Given the description of an element on the screen output the (x, y) to click on. 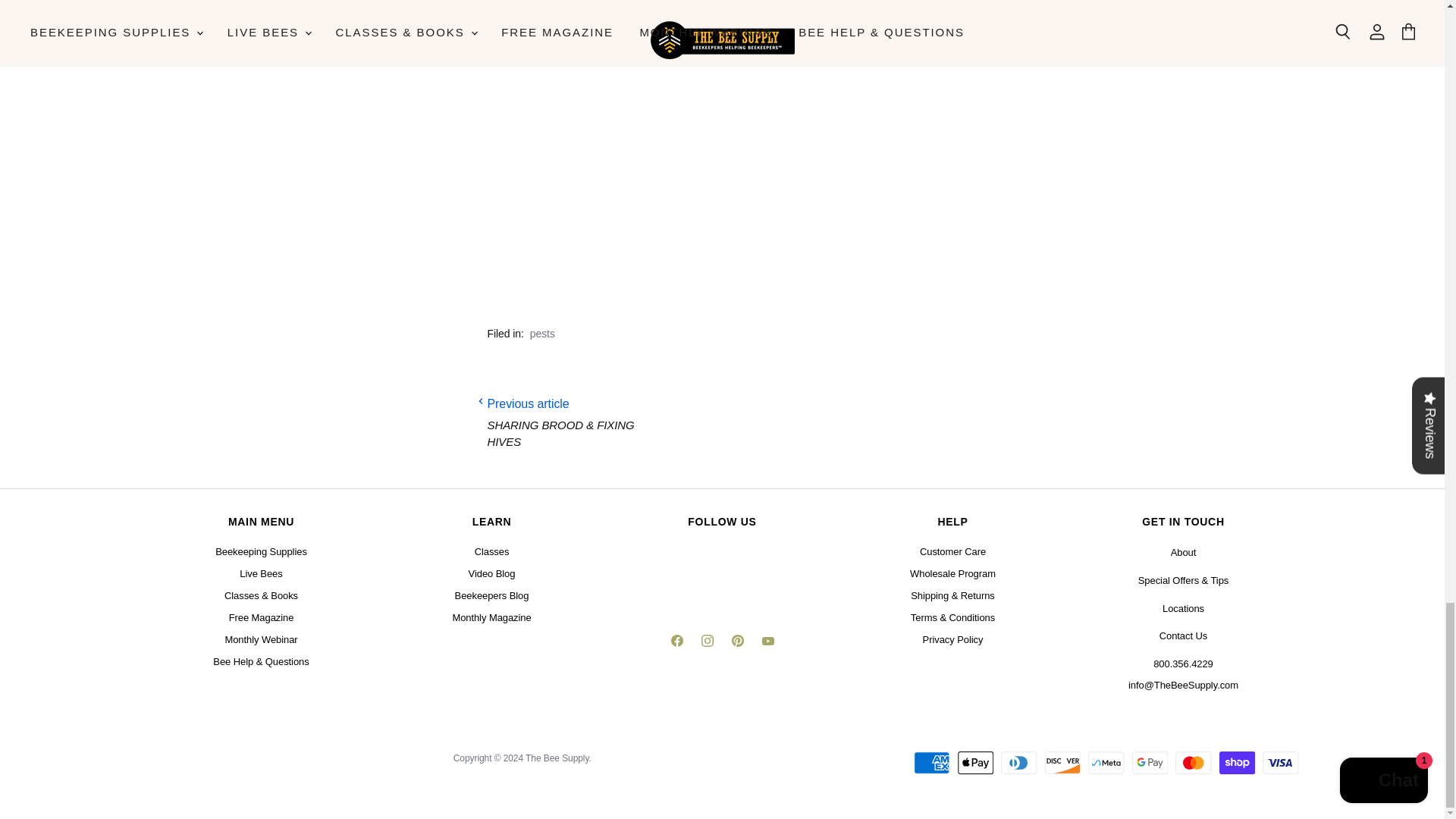
Facebook (676, 643)
Pinterest (737, 643)
YouTube video player (721, 127)
Instagram (706, 643)
Contact Us (1183, 635)
YouTube (767, 643)
Show articles tagged pests (541, 333)
